Given the description of an element on the screen output the (x, y) to click on. 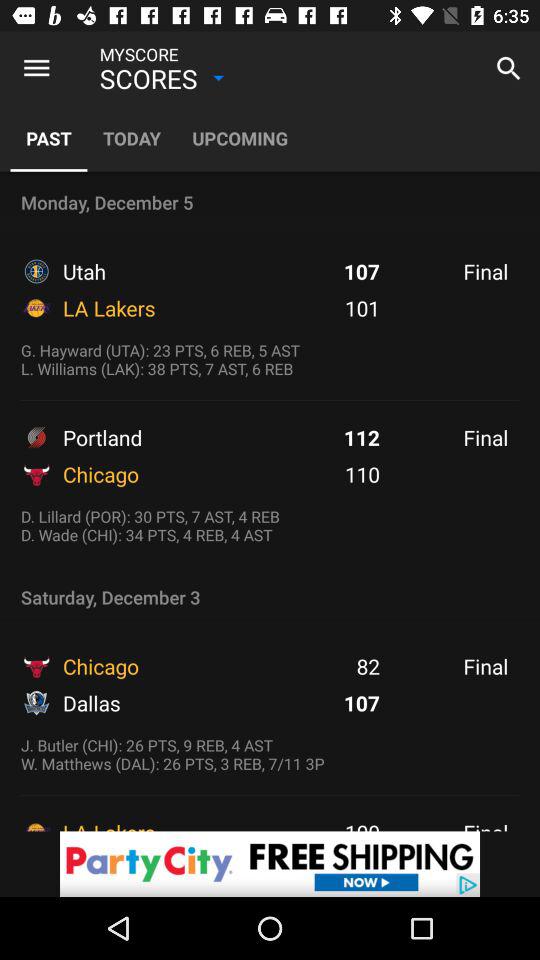
click on the icon beside utah (36, 271)
click on the icon beside dallas (36, 703)
